Given the description of an element on the screen output the (x, y) to click on. 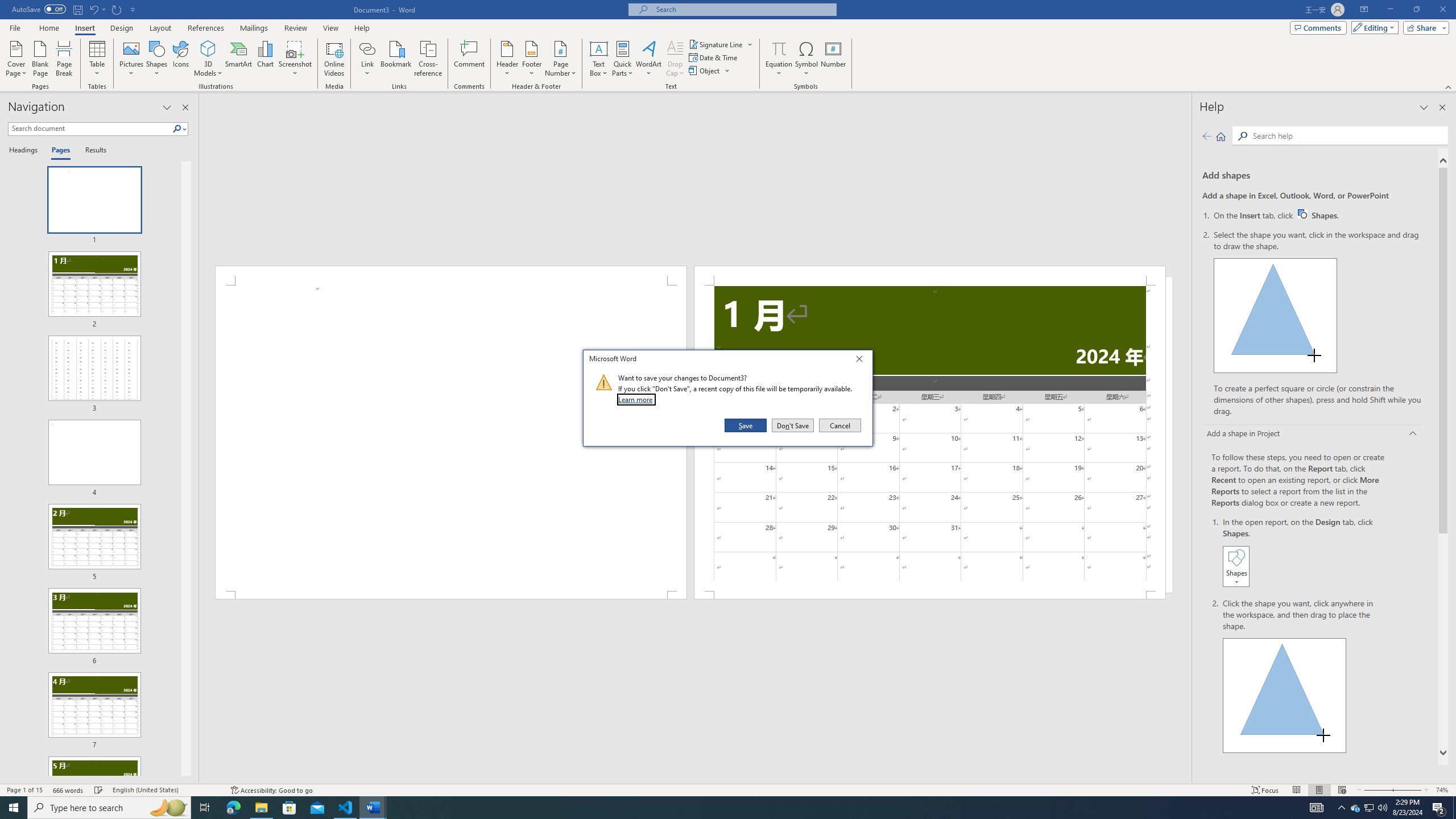
Class: MsoCommandBar (728, 789)
Mode (1372, 27)
Action Center, 2 new notifications (1439, 807)
Notification Chevron (1341, 807)
AutomationID: 4105 (1316, 807)
3D Models (208, 58)
Spelling and Grammar Check Checking (98, 790)
Previous page (1206, 136)
Undo New Page (96, 9)
Repeat Doc Close (117, 9)
